Given the description of an element on the screen output the (x, y) to click on. 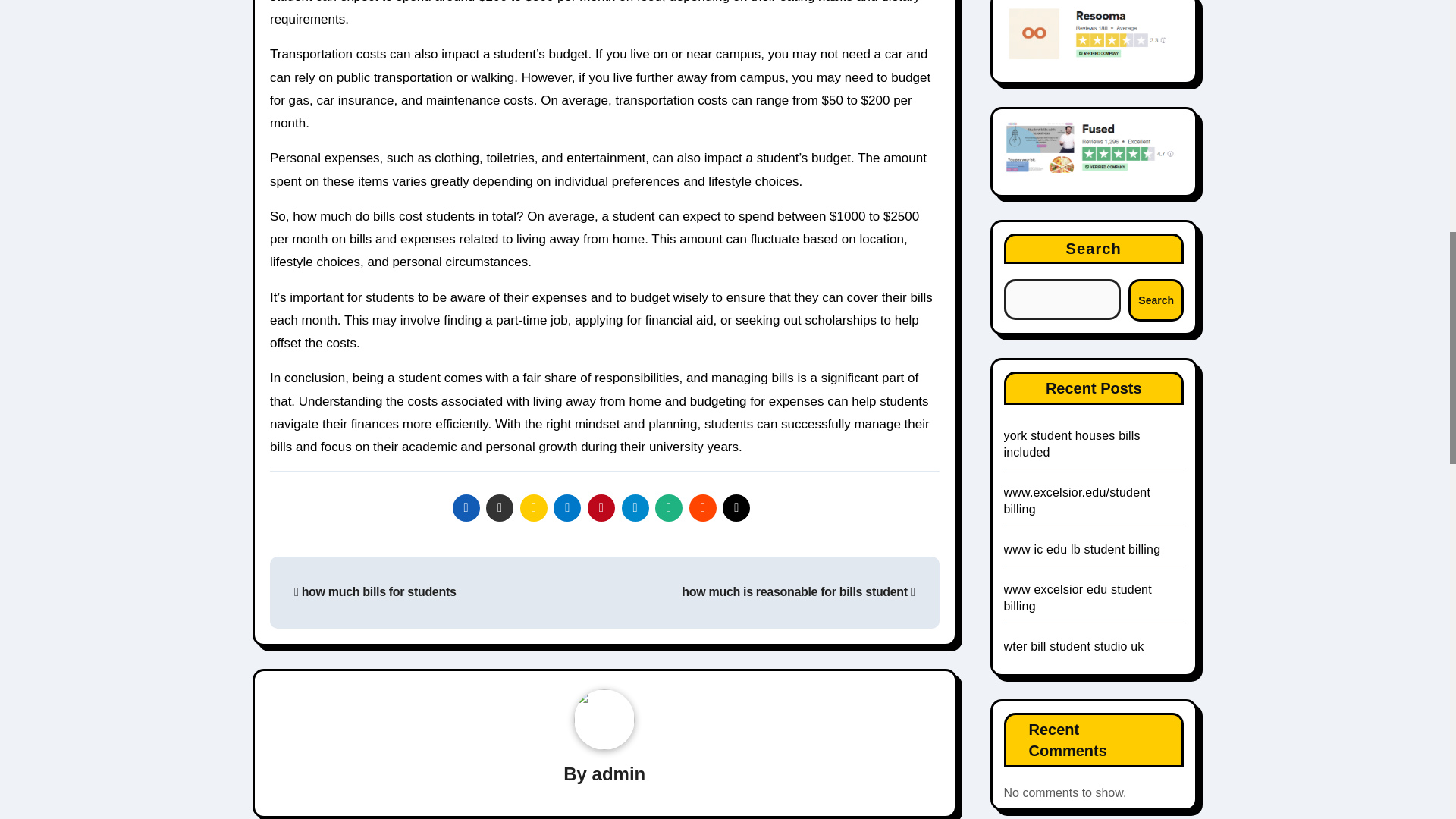
admin (619, 773)
how much bills for students (374, 591)
how much is reasonable for bills student (797, 591)
